Given the description of an element on the screen output the (x, y) to click on. 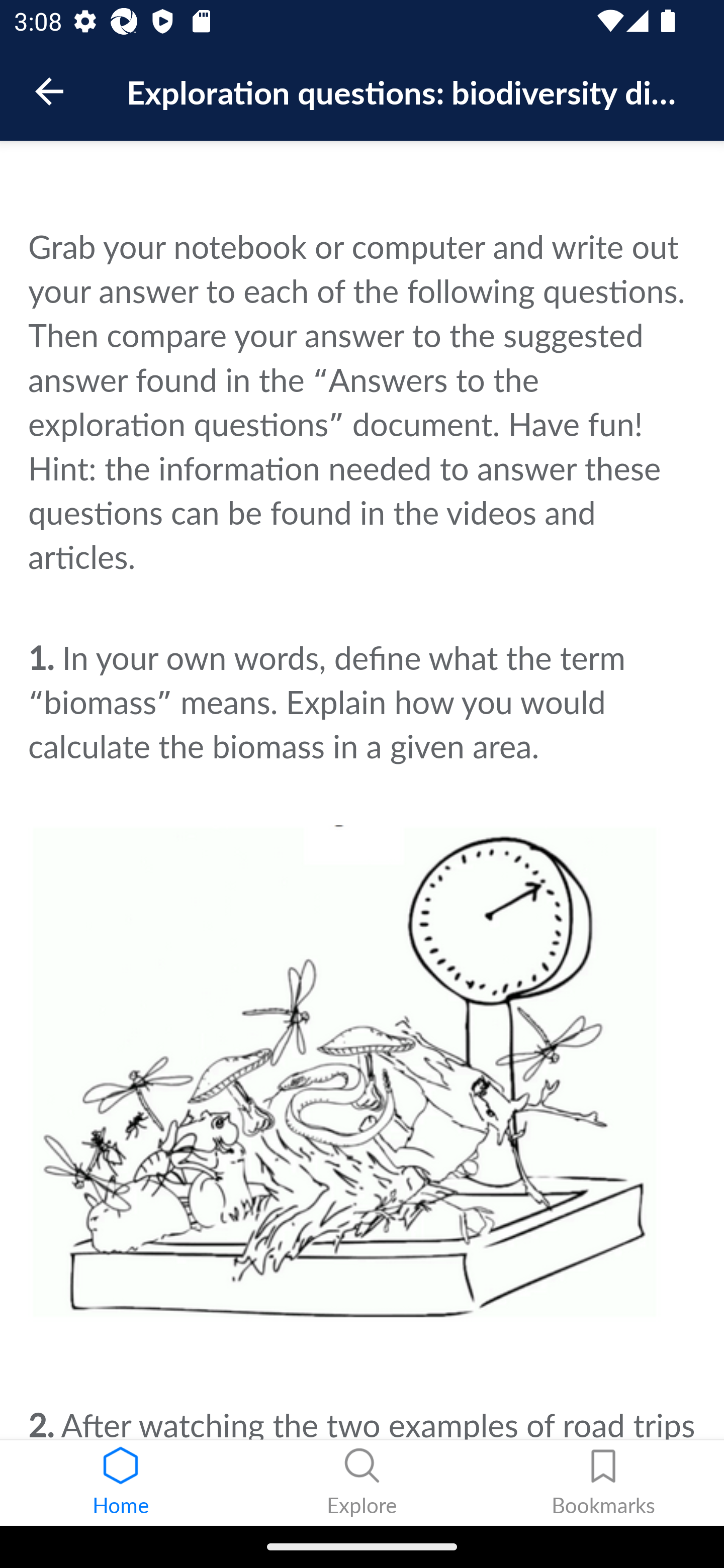
Navigate up (49, 91)
Home (120, 1482)
Explore (361, 1482)
Bookmarks (603, 1482)
